Given the description of an element on the screen output the (x, y) to click on. 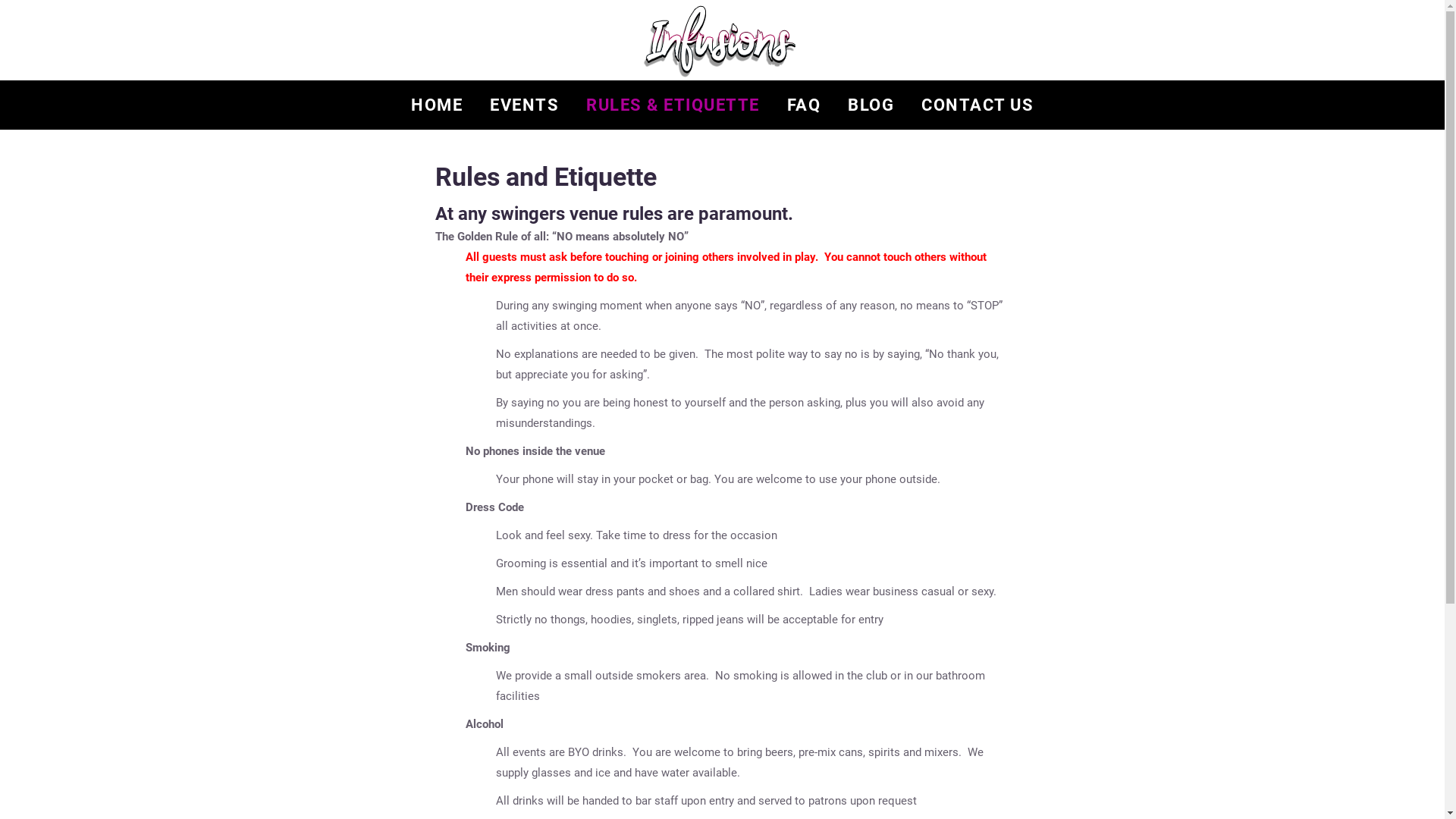
CONTACT US Element type: text (977, 105)
FAQ Element type: text (804, 105)
RULES & ETIQUETTE Element type: text (672, 105)
BLOG Element type: text (870, 105)
HOME Element type: text (436, 105)
EVENTS Element type: text (523, 105)
